Given the description of an element on the screen output the (x, y) to click on. 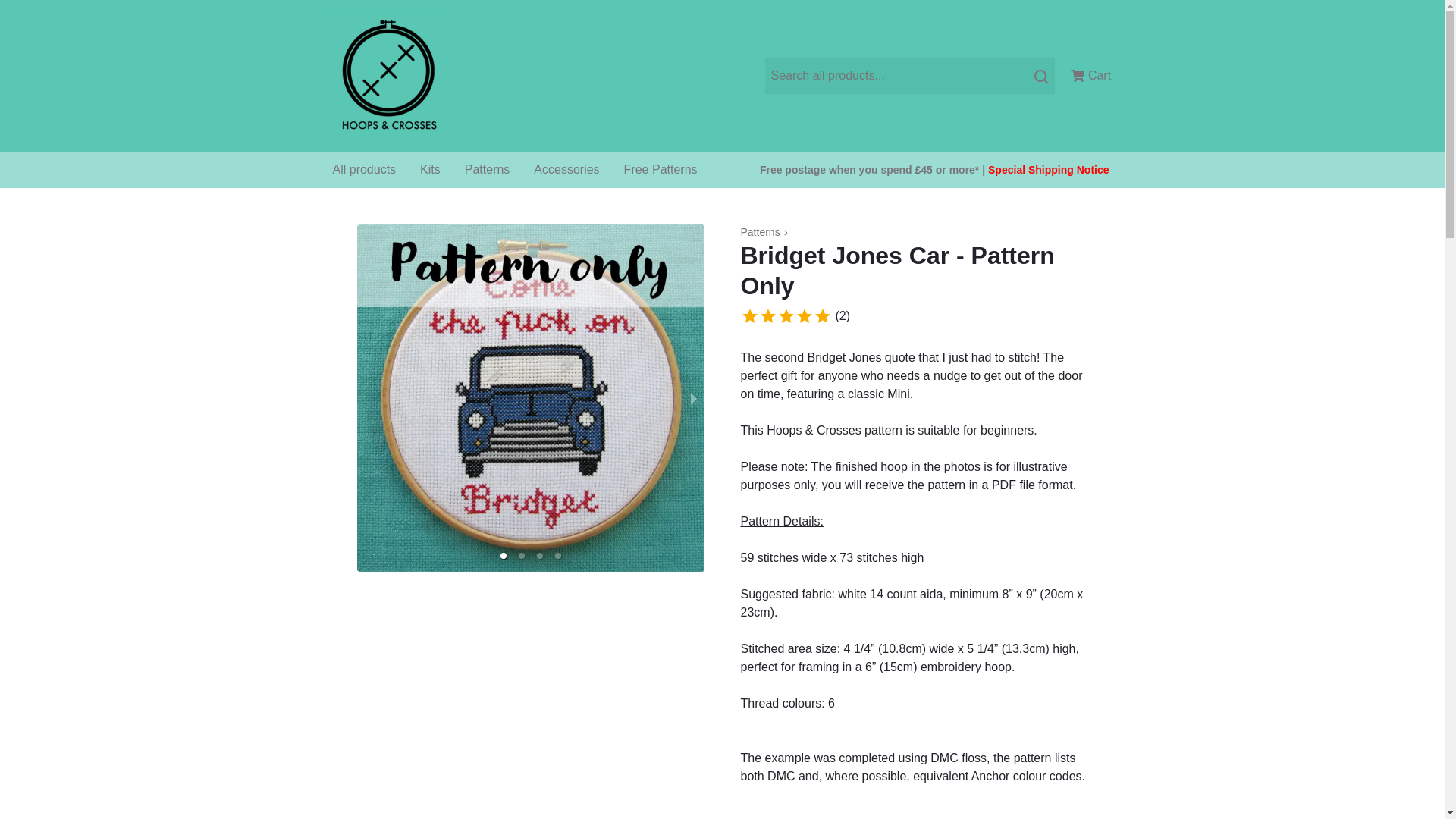
Accessories (566, 169)
All products (363, 169)
Patterns (758, 232)
Special Shipping Notice (1048, 169)
Skip to content (47, 20)
Cart (1089, 75)
Kits (429, 169)
Free Patterns (660, 169)
Patterns (487, 169)
